Given the description of an element on the screen output the (x, y) to click on. 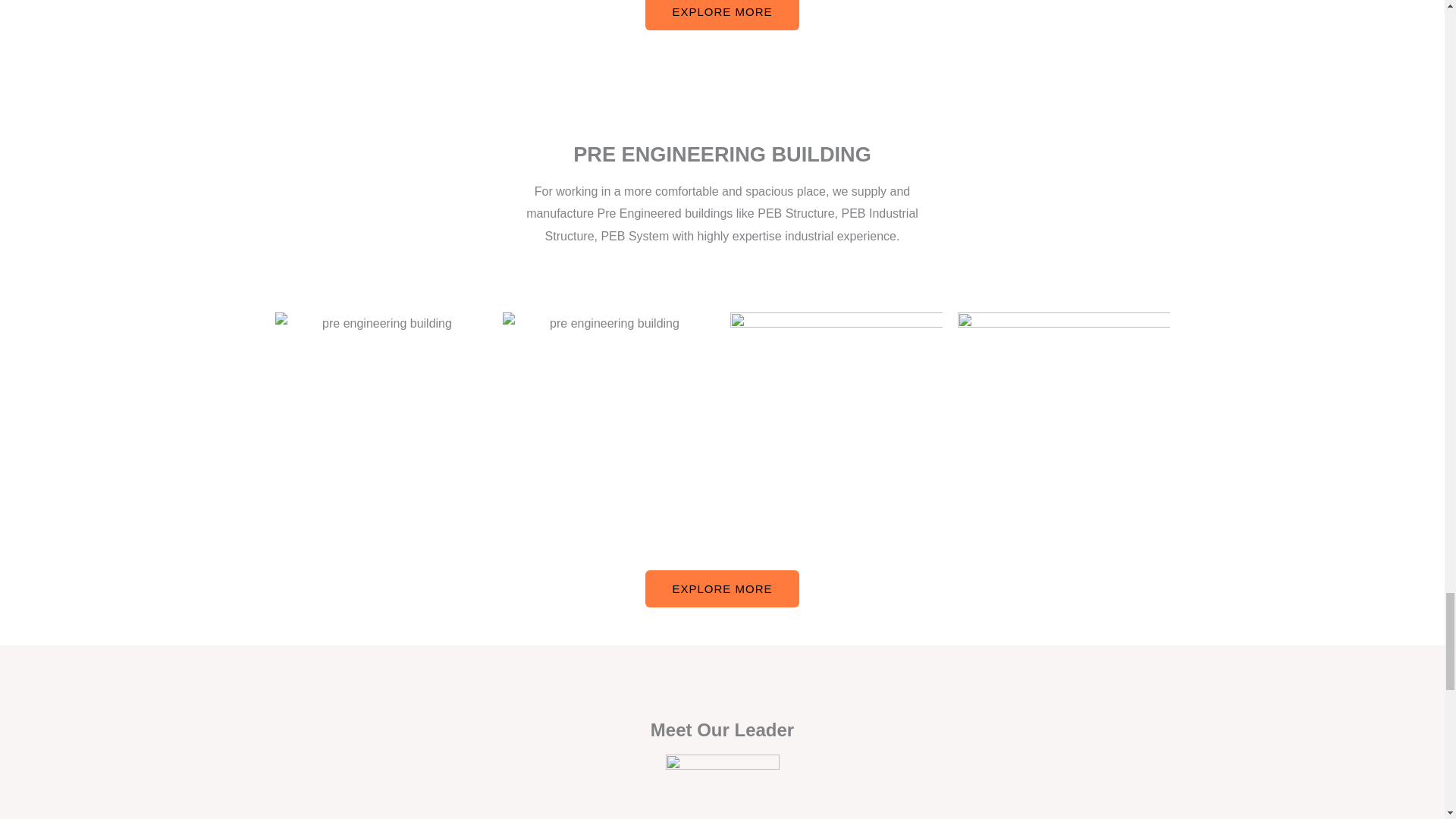
EXPLORE MORE (721, 15)
EXPLORE MORE (721, 588)
